Given the description of an element on the screen output the (x, y) to click on. 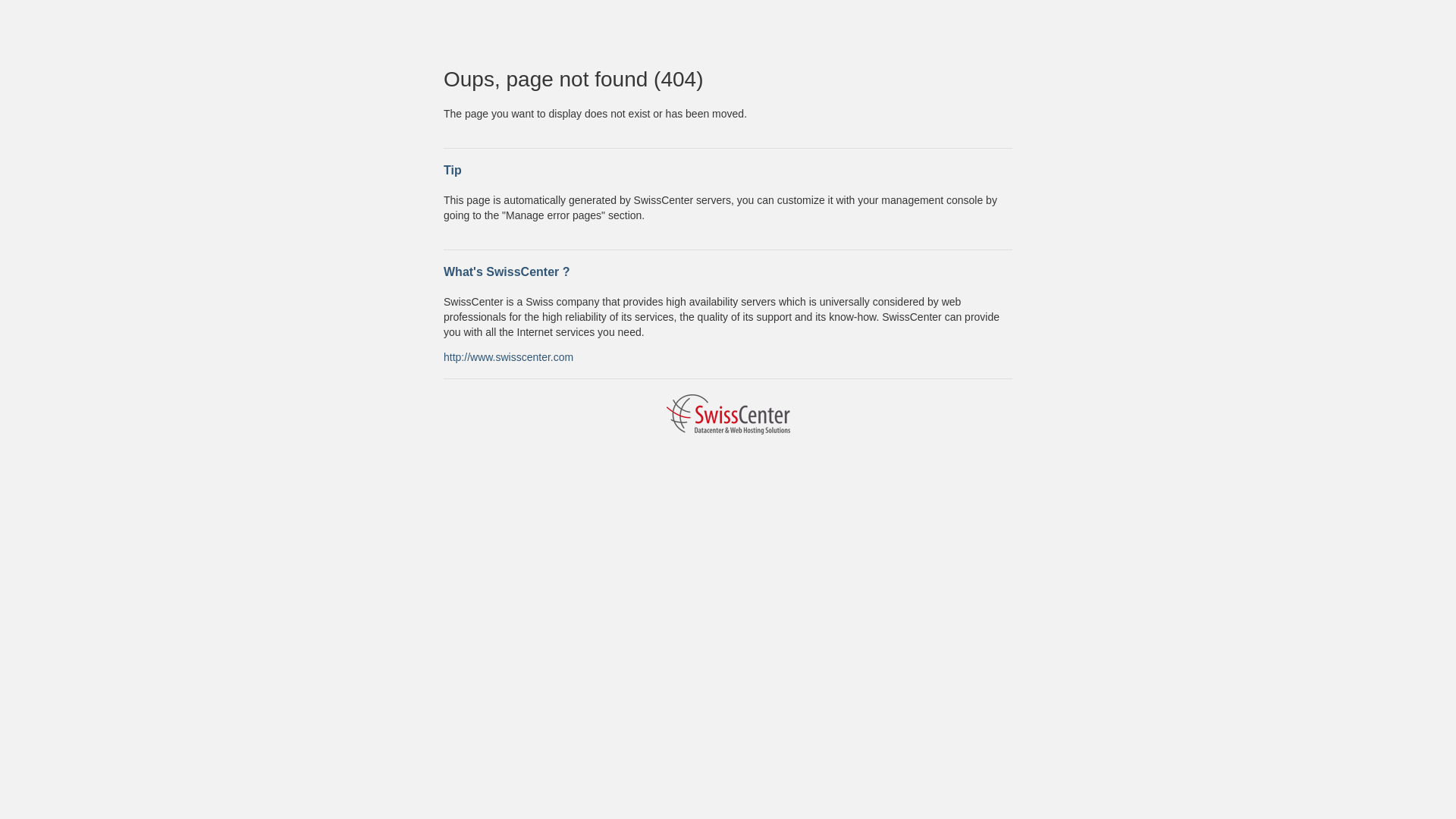
http://www.swisscenter.com Element type: text (508, 356)
